Given the description of an element on the screen output the (x, y) to click on. 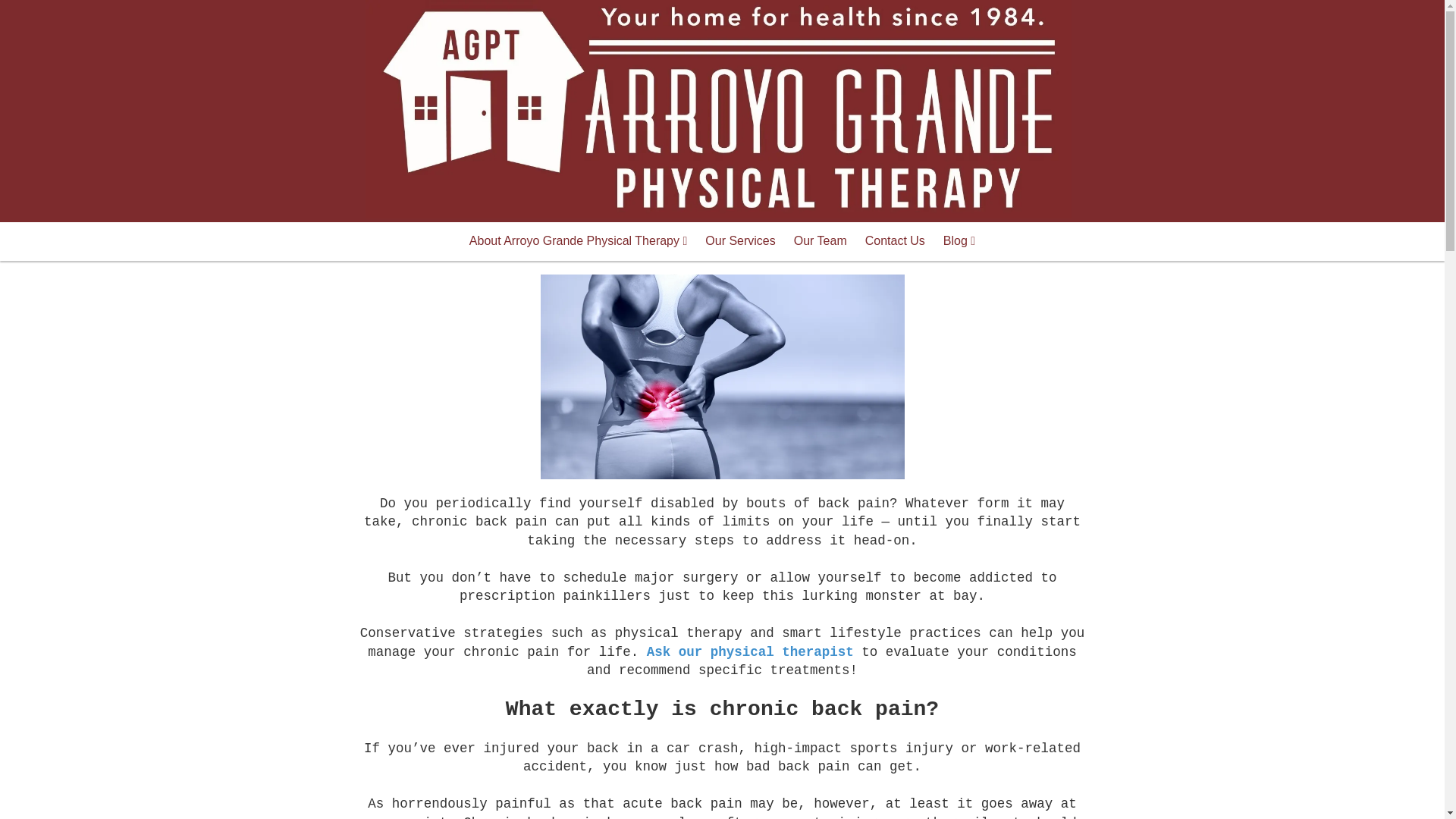
Ask our physical therapist (749, 652)
Contact Us (895, 241)
Our Team (820, 241)
Blog (959, 241)
Our Services (739, 241)
About Arroyo Grande Physical Therapy (577, 241)
